Given the description of an element on the screen output the (x, y) to click on. 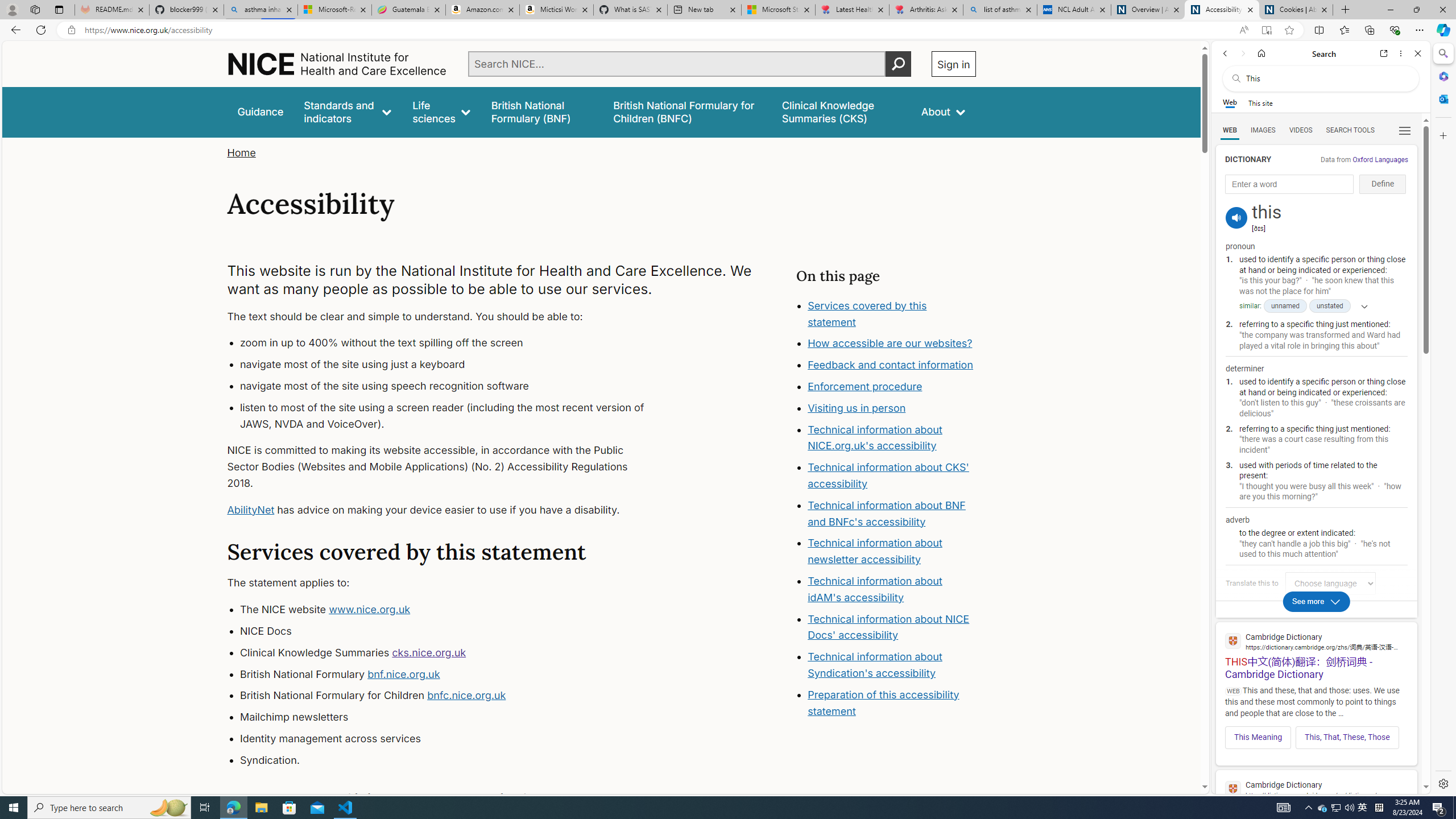
Feedback and contact information (891, 365)
Clinical Knowledge Summaries cks.nice.org.uk (452, 652)
The NICE website www.nice.org.uk (452, 609)
Preparation of this accessibility statement (891, 702)
asthma inhaler - Search (260, 9)
